Given the description of an element on the screen output the (x, y) to click on. 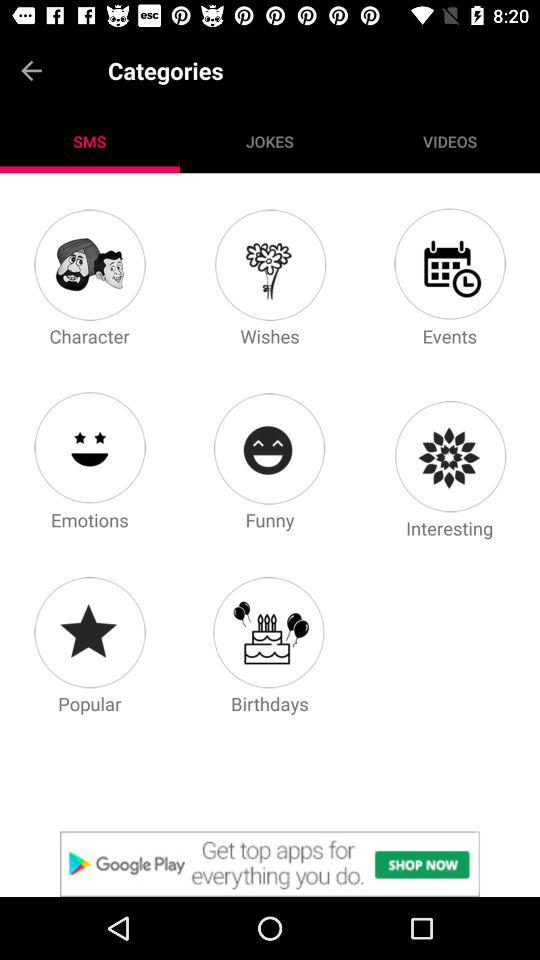
wishes (269, 264)
